Given the description of an element on the screen output the (x, y) to click on. 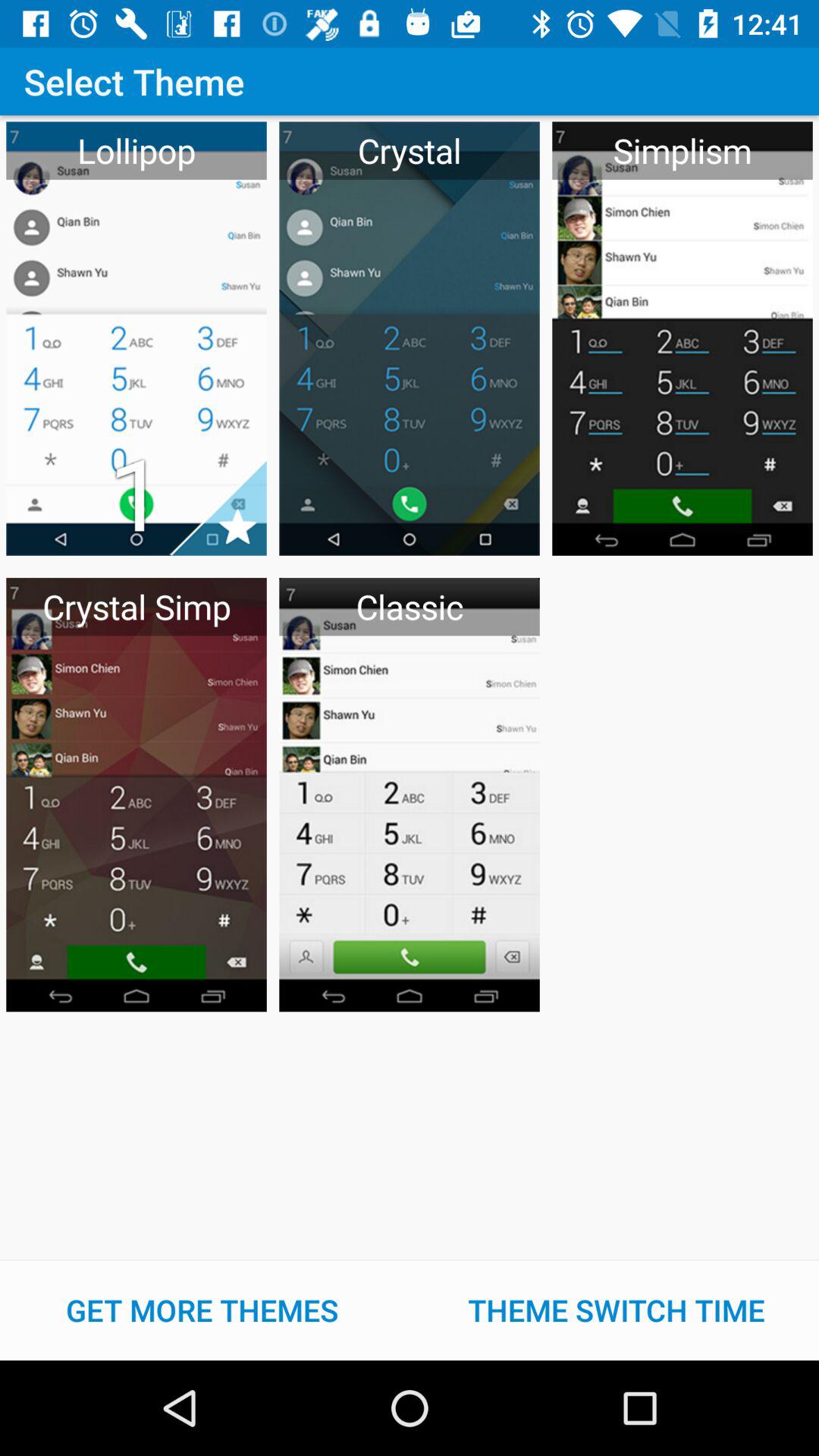
open the button next to the theme switch time icon (202, 1310)
